Given the description of an element on the screen output the (x, y) to click on. 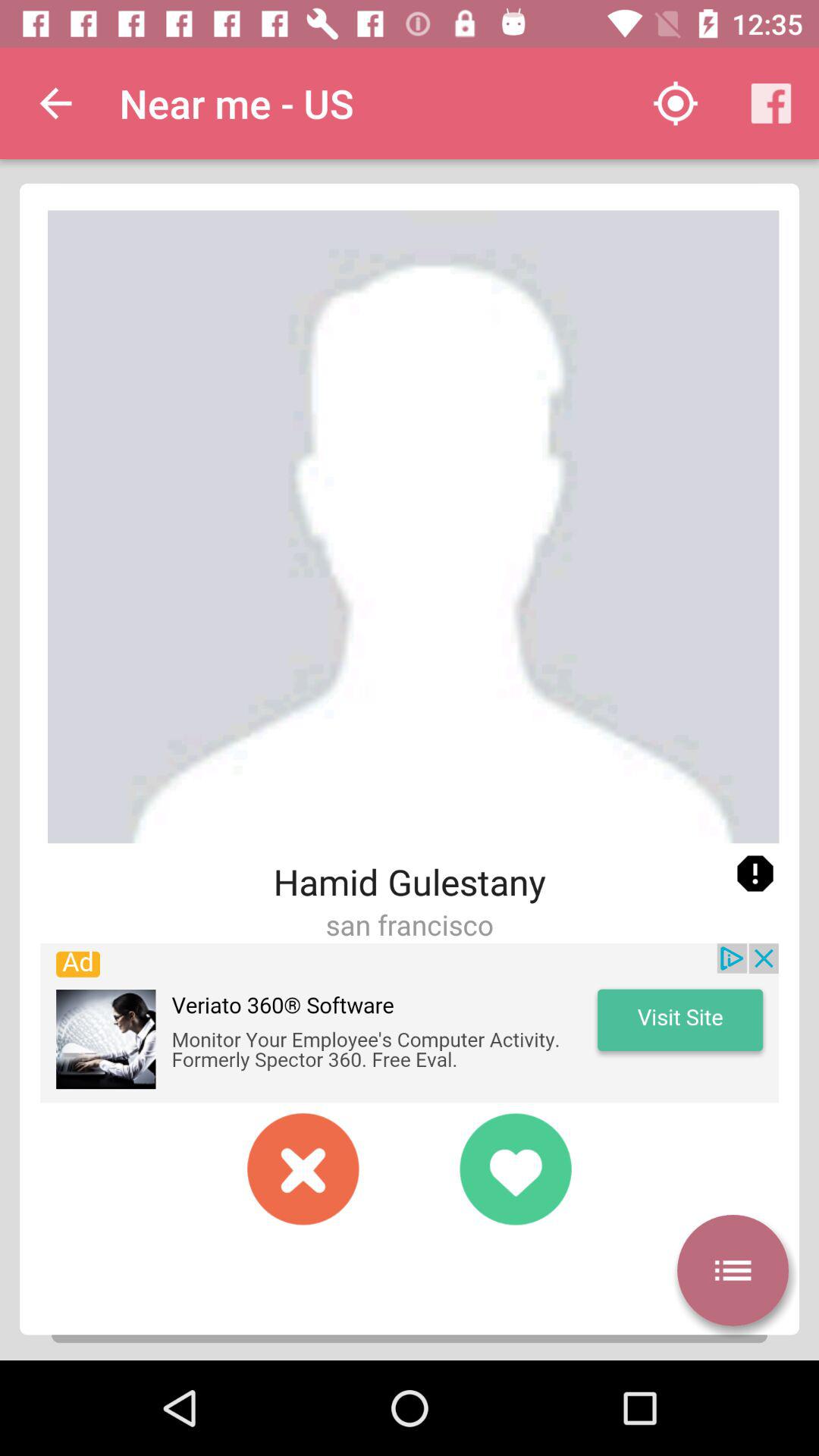
heart toucing (515, 1169)
